Given the description of an element on the screen output the (x, y) to click on. 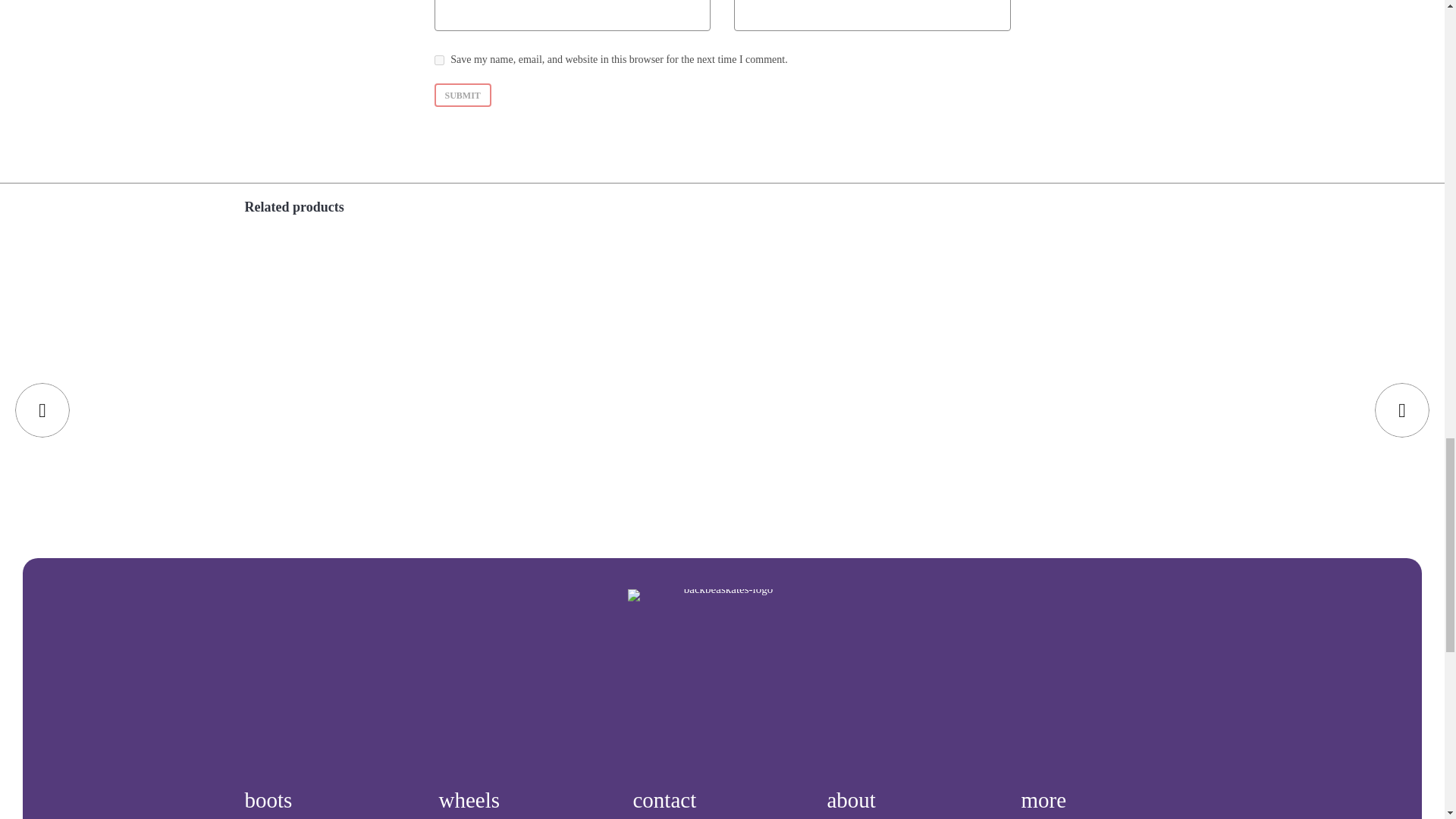
yes (438, 60)
backbeaskates-logo (721, 674)
Submit (461, 95)
